Given the description of an element on the screen output the (x, y) to click on. 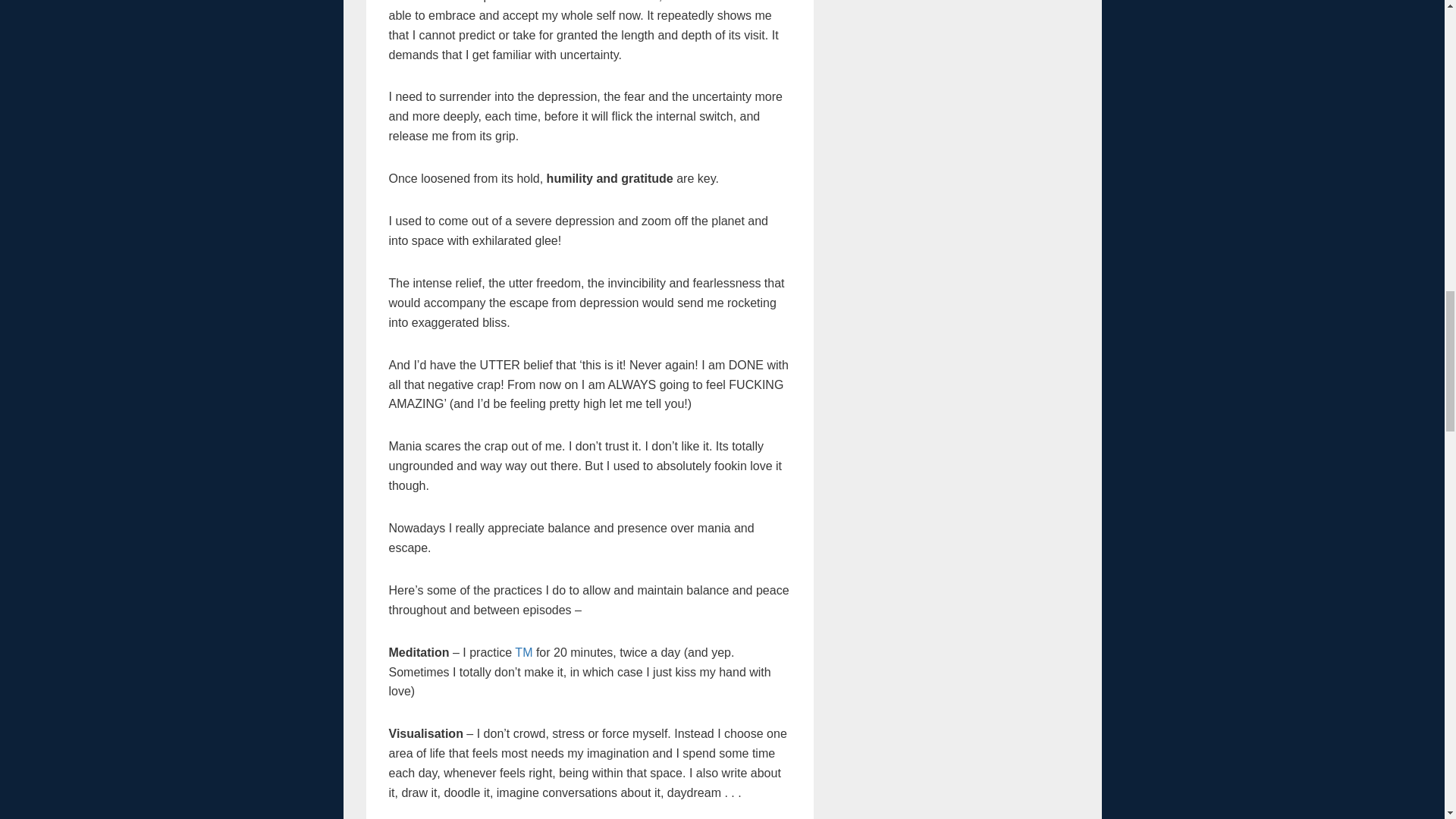
TM (523, 652)
Transcendental Meditation (523, 652)
